Given the description of an element on the screen output the (x, y) to click on. 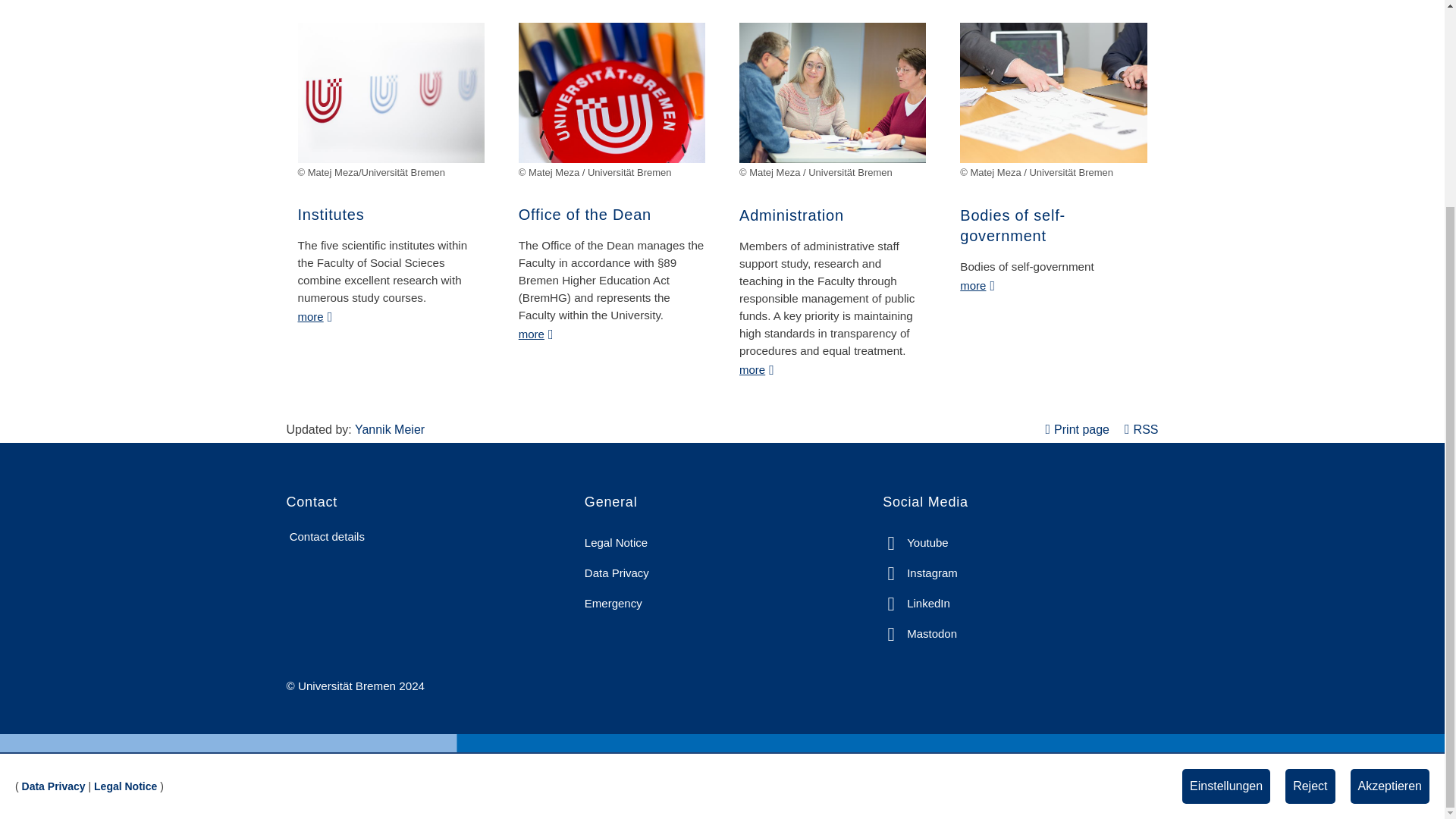
More about: Institutes (319, 314)
Open link to Linked In in a new window (916, 603)
Scroll to the bottom of the page (1411, 520)
Open link to Mastodon in a new window (919, 633)
Open link to Instagram in a new window (920, 572)
More about: Self-government (981, 283)
Seite als RSS Feed (1140, 429)
More about: Administration (761, 367)
More about: Office of the Dean (540, 332)
